Given the description of an element on the screen output the (x, y) to click on. 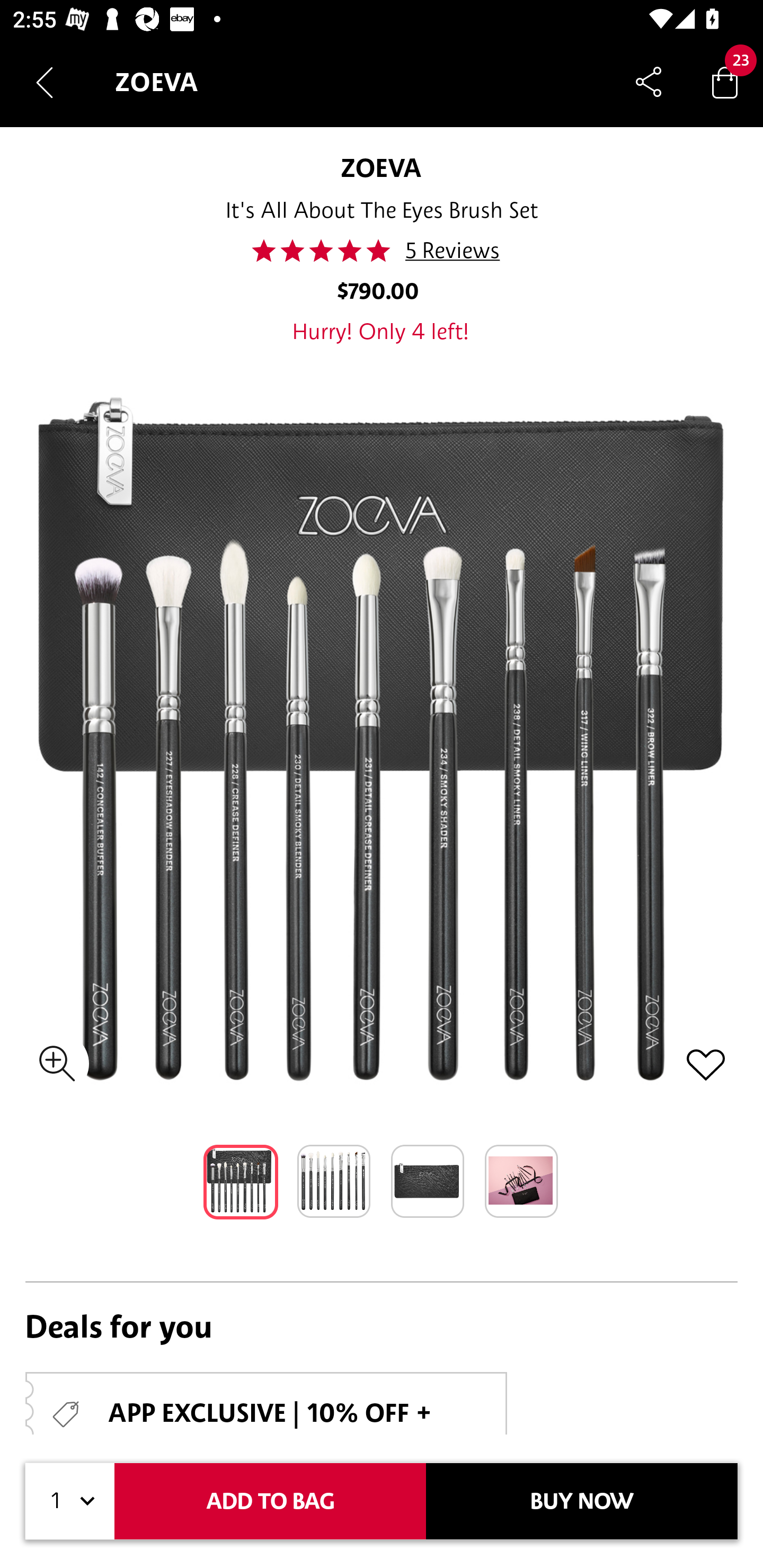
Navigate up (44, 82)
Share (648, 81)
Bag (724, 81)
ZOEVA (380, 167)
50.0 5 Reviews (380, 250)
1 (69, 1500)
ADD TO BAG (269, 1500)
BUY NOW (581, 1500)
